Given the description of an element on the screen output the (x, y) to click on. 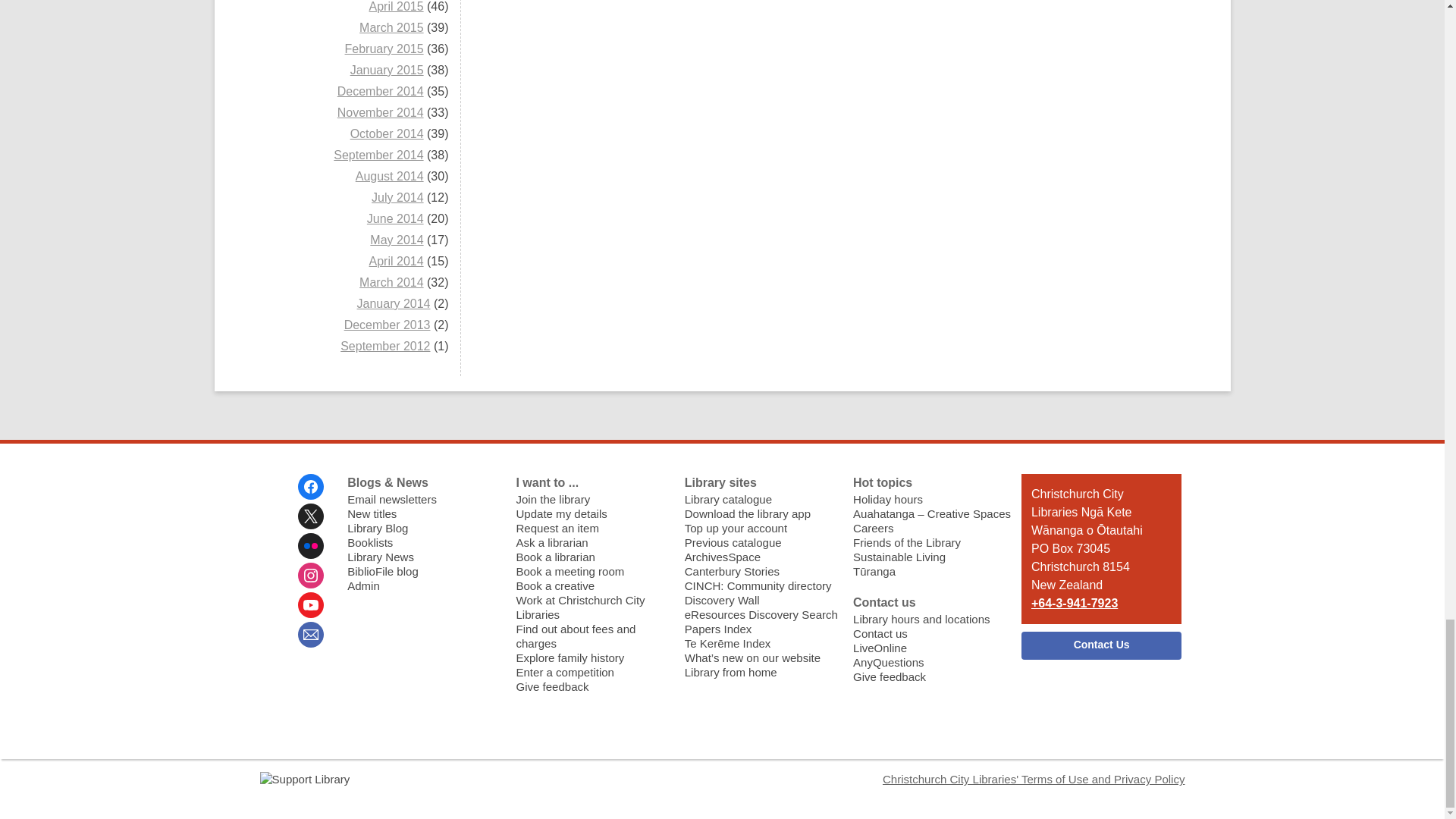
All our locations and hours (921, 618)
